Given the description of an element on the screen output the (x, y) to click on. 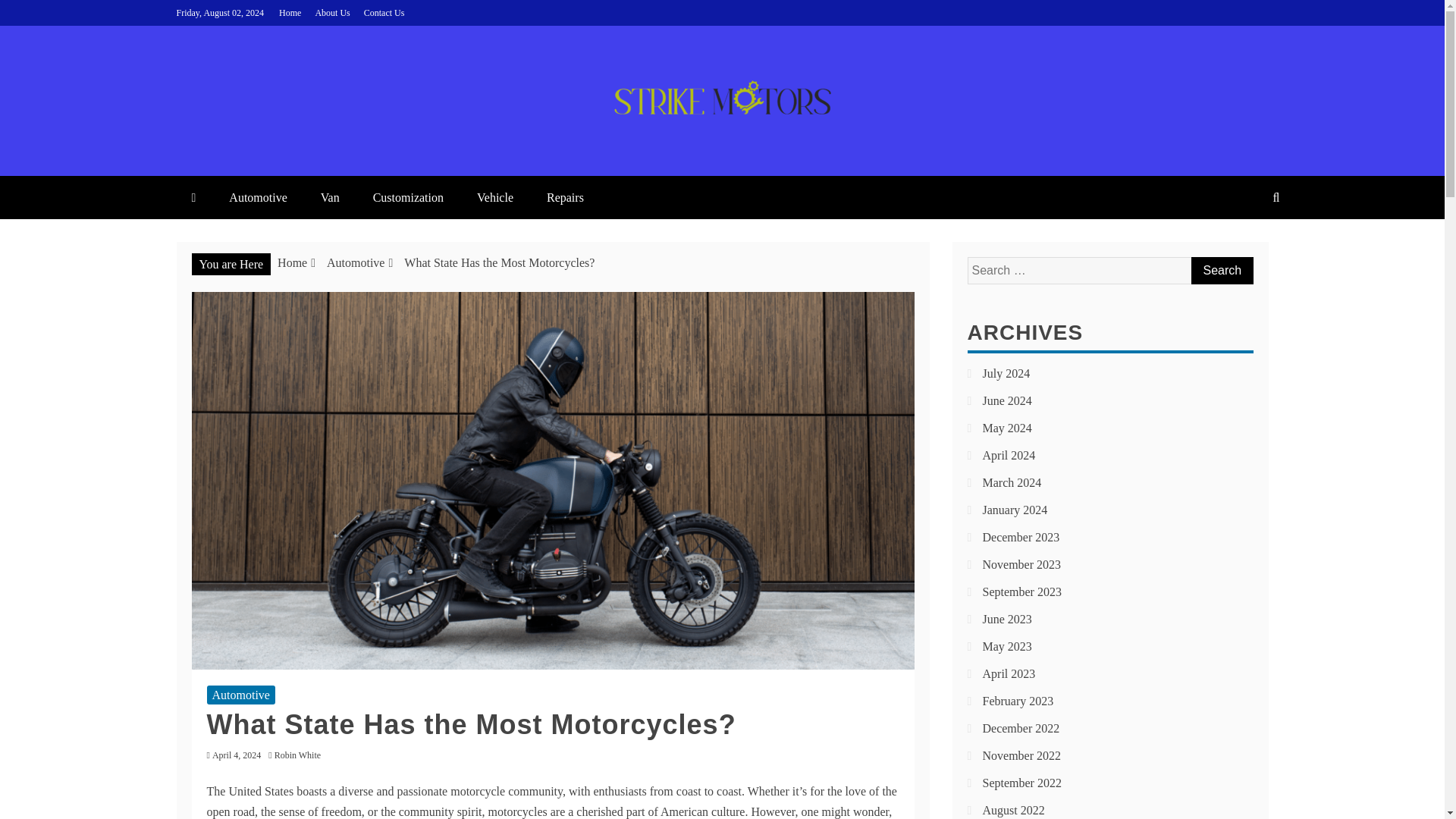
Robin White (302, 755)
STRIKE MOTORS (338, 160)
Vehicle (494, 197)
Van (330, 197)
Customization (408, 197)
Home (290, 12)
Search (1221, 270)
Search (1221, 270)
Repairs (564, 197)
Automotive (355, 262)
Search (1221, 270)
April 4, 2024 (236, 755)
About Us (331, 12)
Automotive (240, 694)
Home (292, 262)
